Given the description of an element on the screen output the (x, y) to click on. 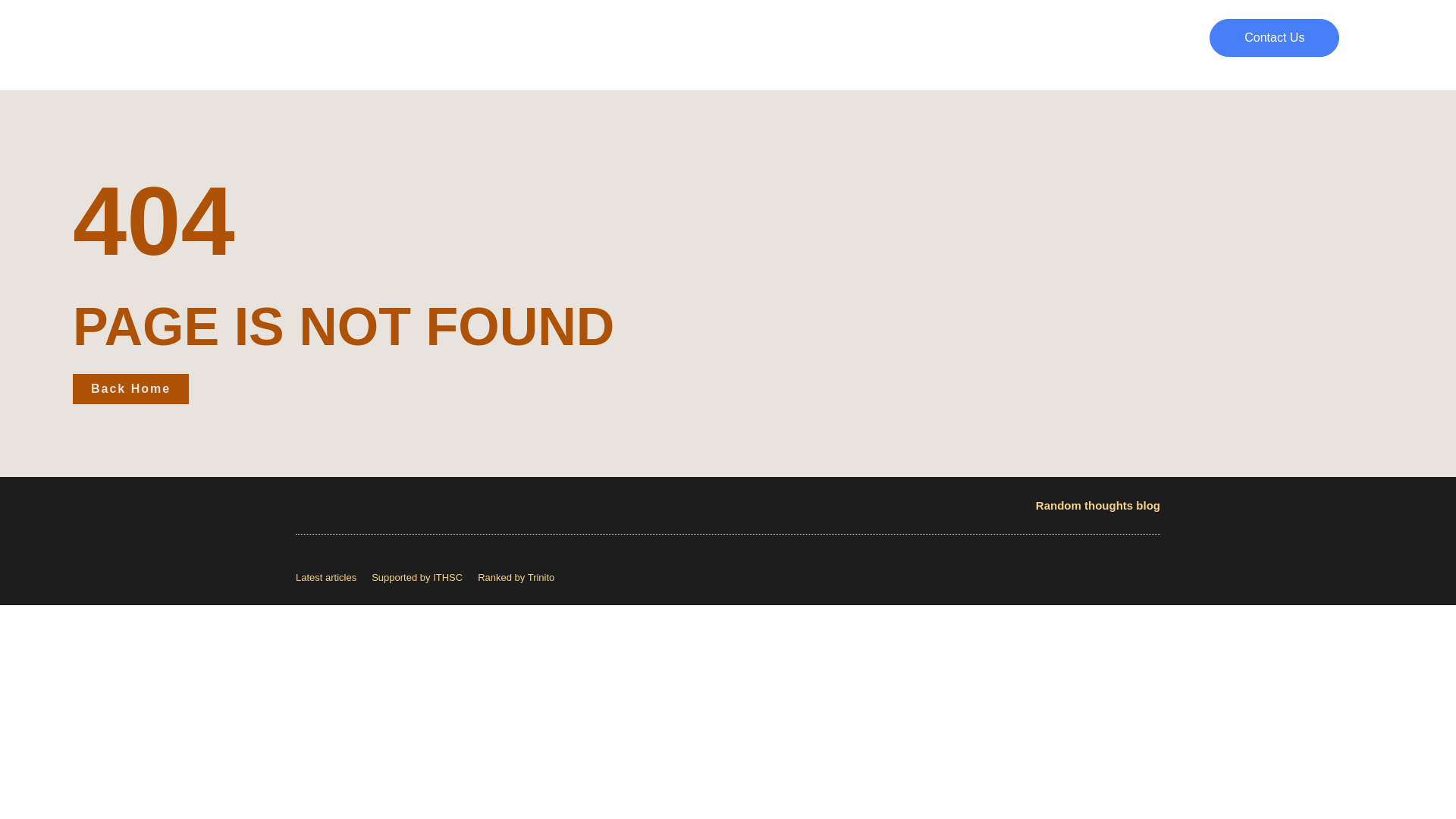
Contact Us (1274, 37)
Supported by ITHSC (417, 577)
Ranked by Trinito (515, 577)
Back Home (130, 388)
